Given the description of an element on the screen output the (x, y) to click on. 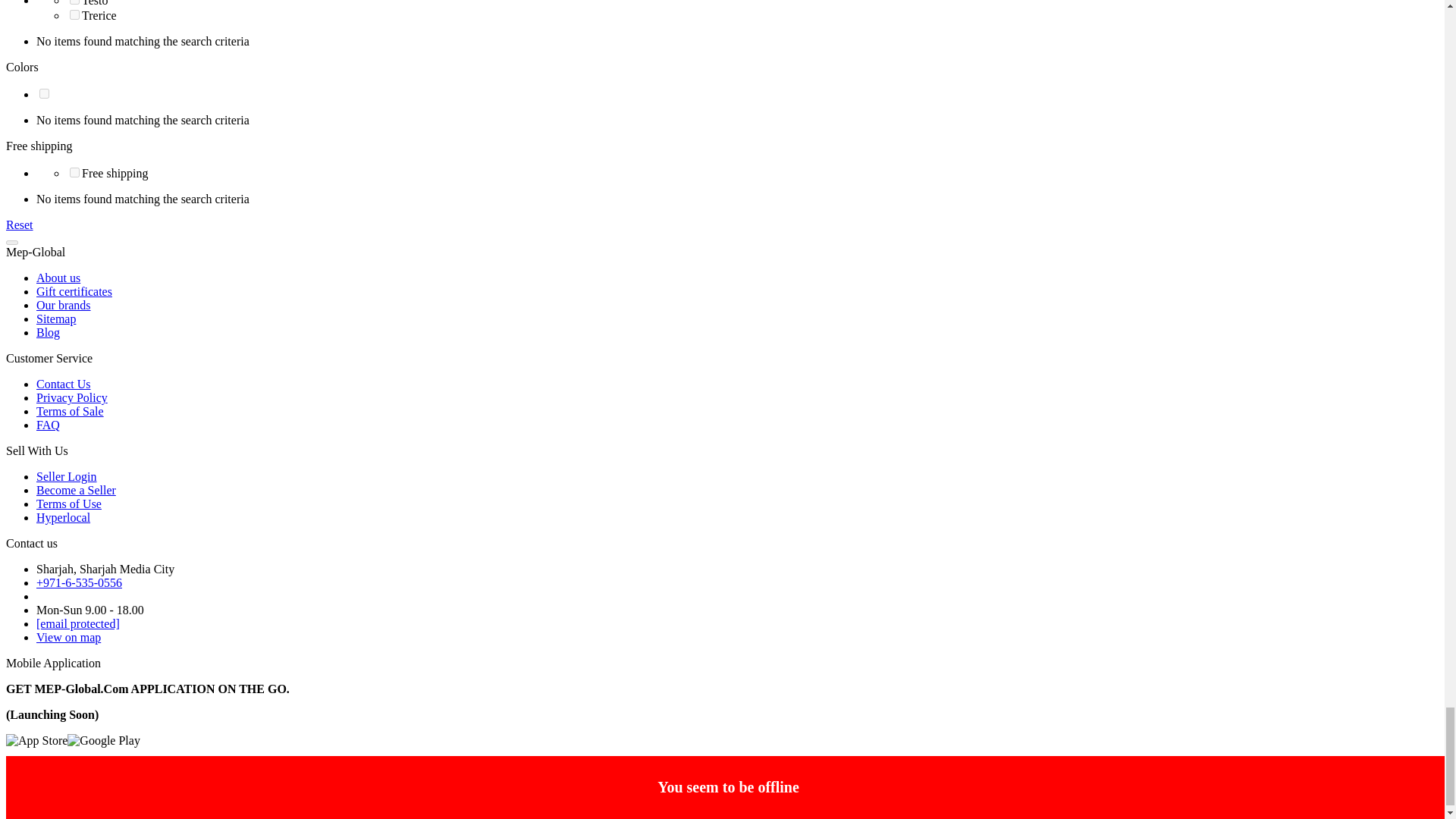
9413 (74, 2)
2612 (44, 93)
8350 (74, 14)
Y (74, 172)
